Given the description of an element on the screen output the (x, y) to click on. 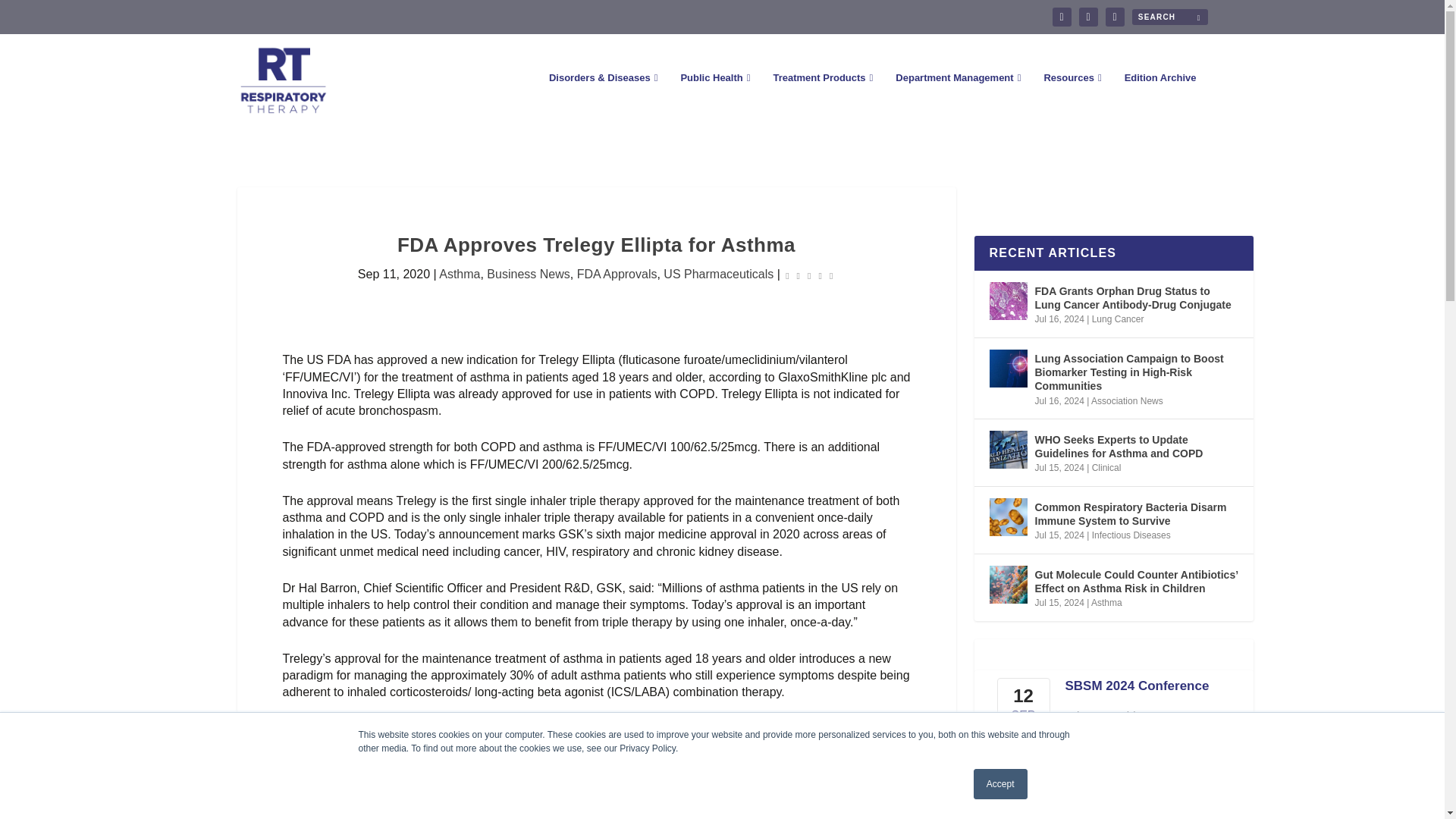
Search for: (1169, 17)
Rating: 0.00 (808, 274)
Treatment Products (822, 98)
Public Health (714, 98)
Resources (1071, 98)
Department Management (957, 98)
Edition Archive (1160, 98)
Accept (1000, 784)
